Given the description of an element on the screen output the (x, y) to click on. 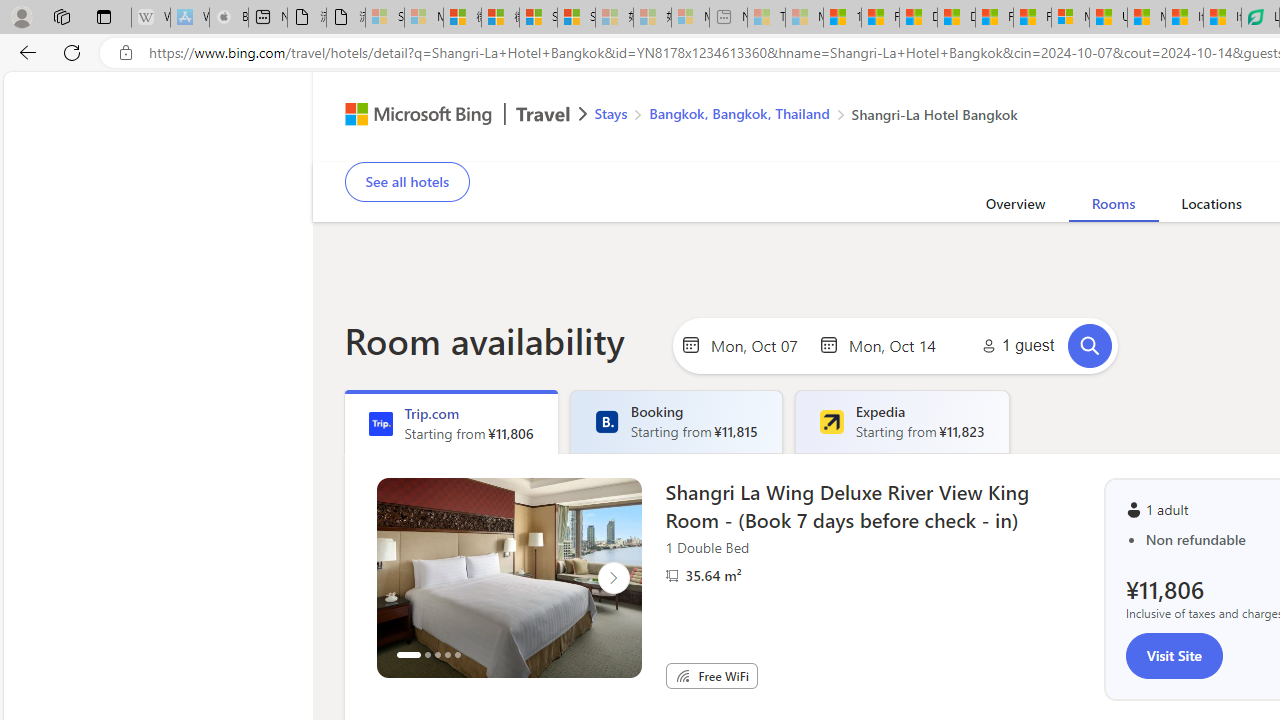
AutomationID: bread-crumb-root (793, 116)
